Given the description of an element on the screen output the (x, y) to click on. 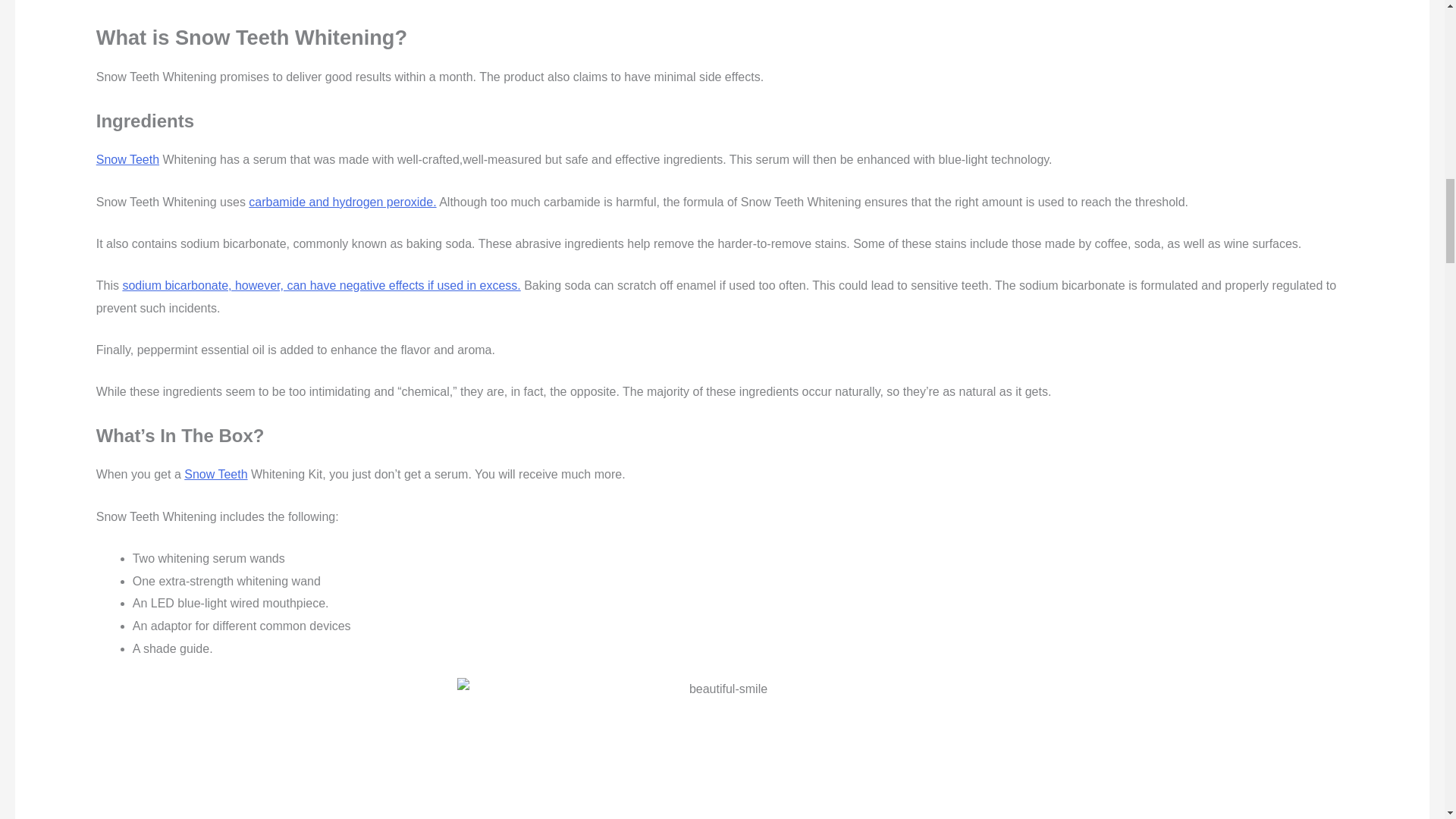
Snow Teeth (127, 159)
Snow Teeth (215, 473)
carbamide and hydrogen peroxide. (341, 201)
